Given the description of an element on the screen output the (x, y) to click on. 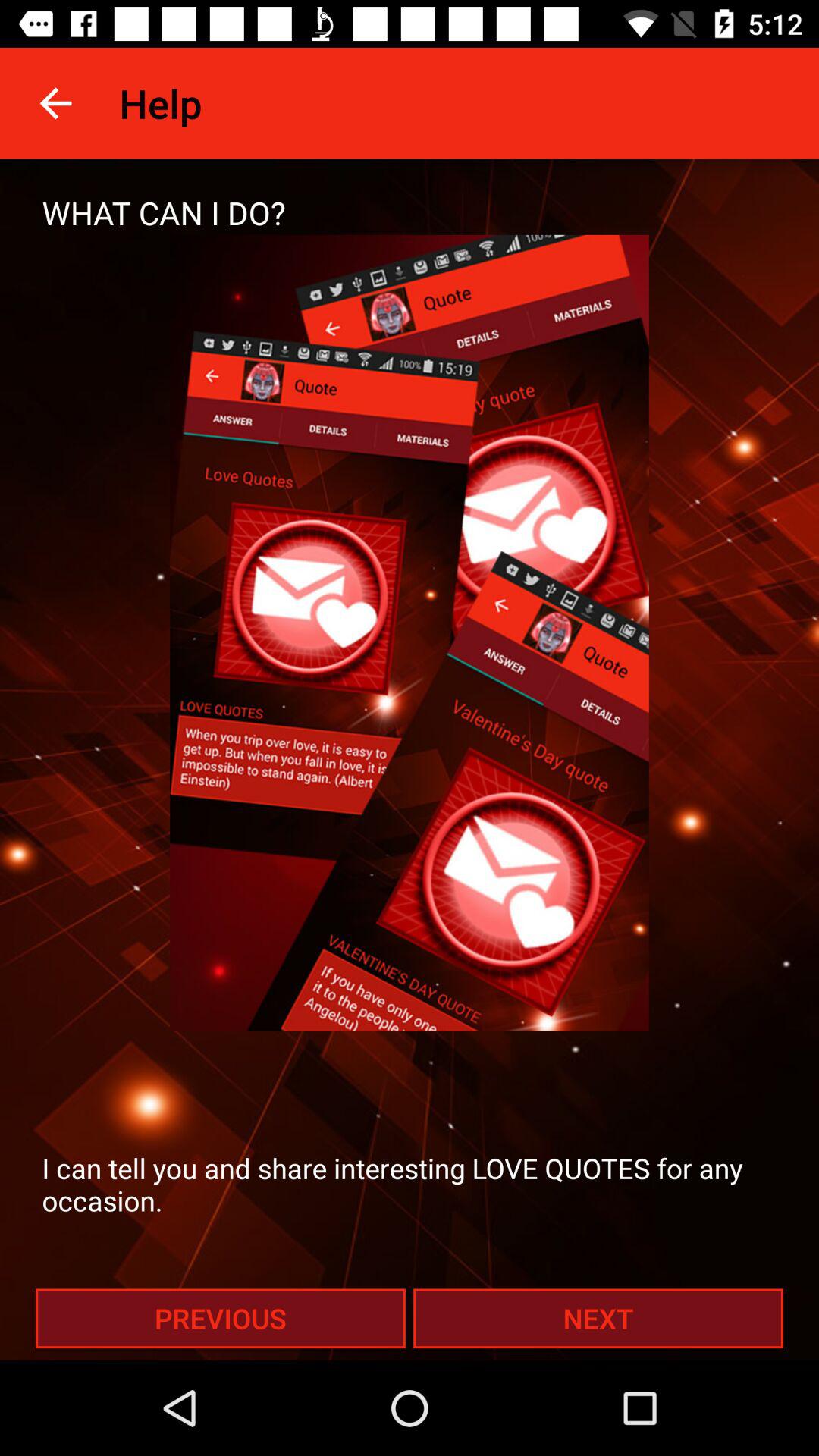
tap the icon next to next item (220, 1318)
